Given the description of an element on the screen output the (x, y) to click on. 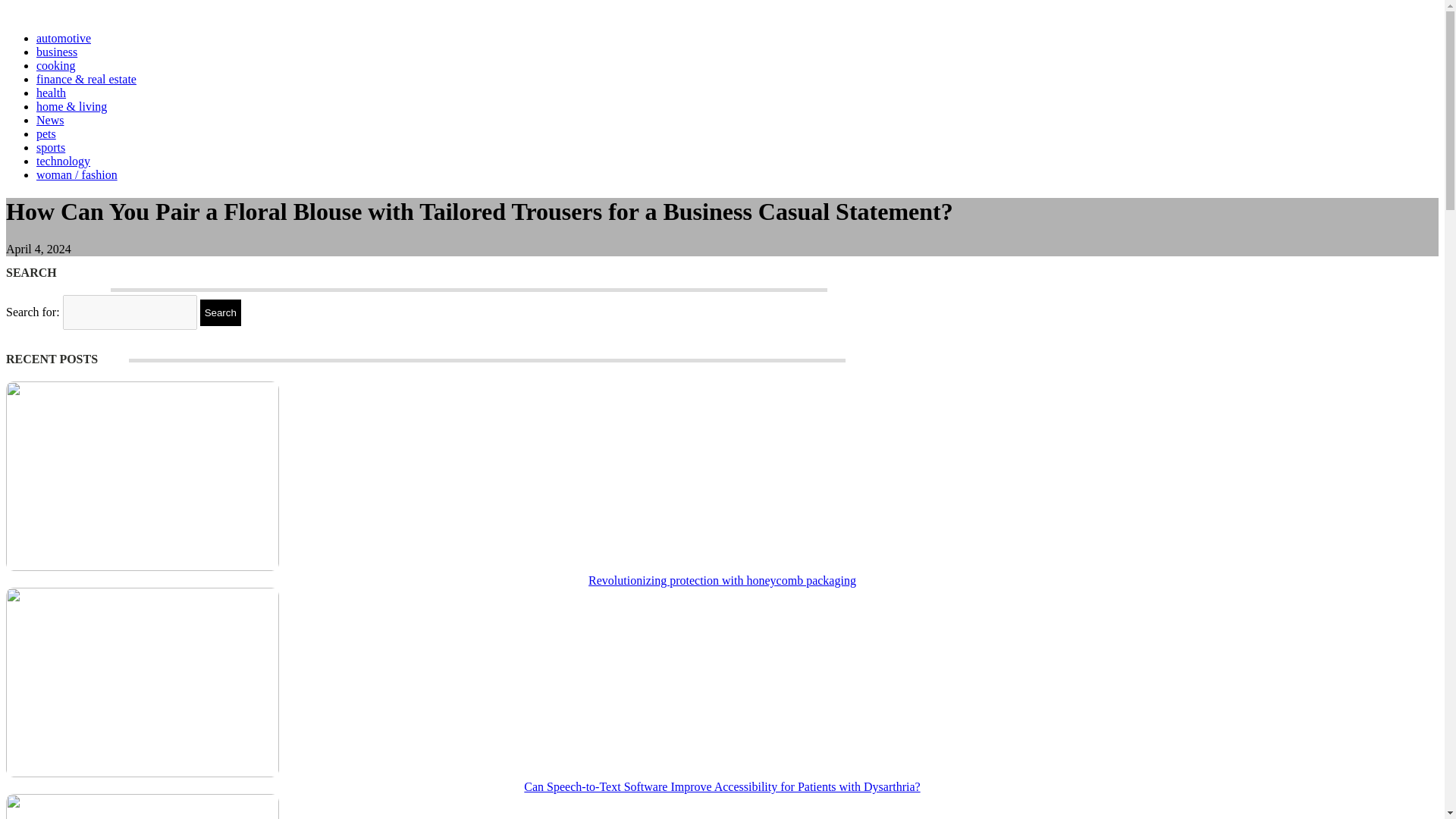
Revolutionizing protection with honeycomb packaging (722, 580)
business (56, 51)
sports (50, 146)
pets (46, 133)
Search (220, 312)
health (50, 92)
News (50, 119)
Search (220, 312)
technology (63, 160)
